Given the description of an element on the screen output the (x, y) to click on. 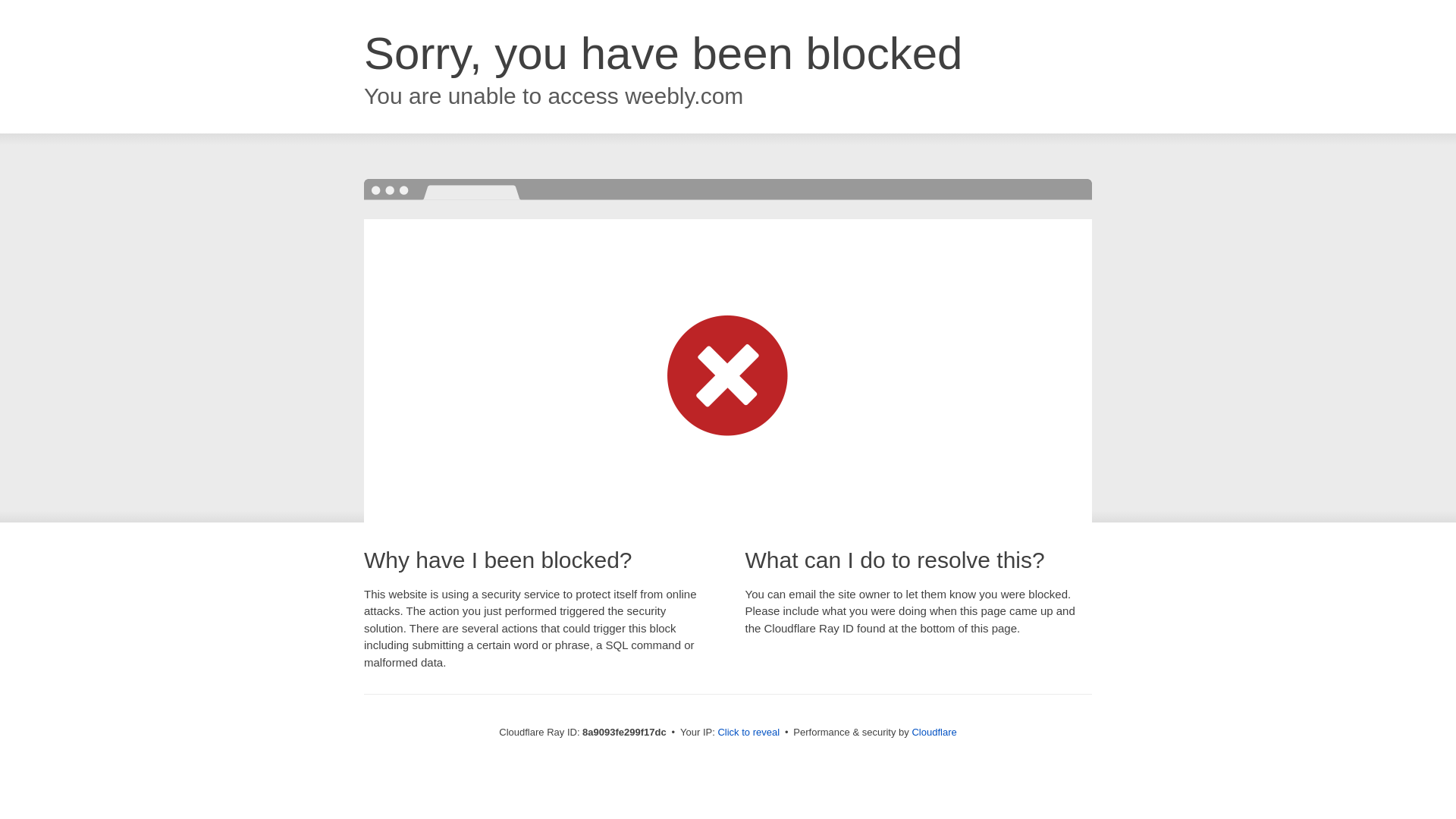
Cloudflare (933, 731)
Click to reveal (747, 732)
